Given the description of an element on the screen output the (x, y) to click on. 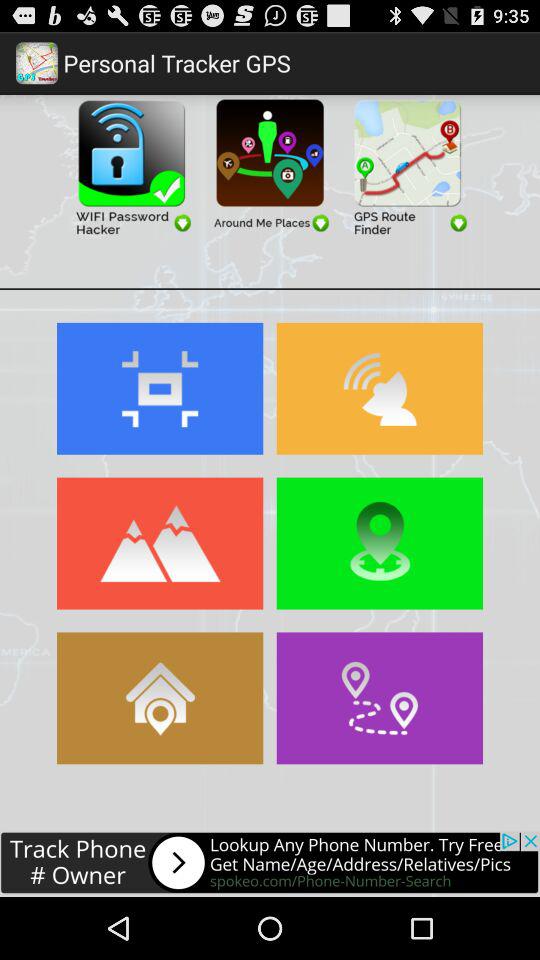
go to terrain (160, 543)
